Given the description of an element on the screen output the (x, y) to click on. 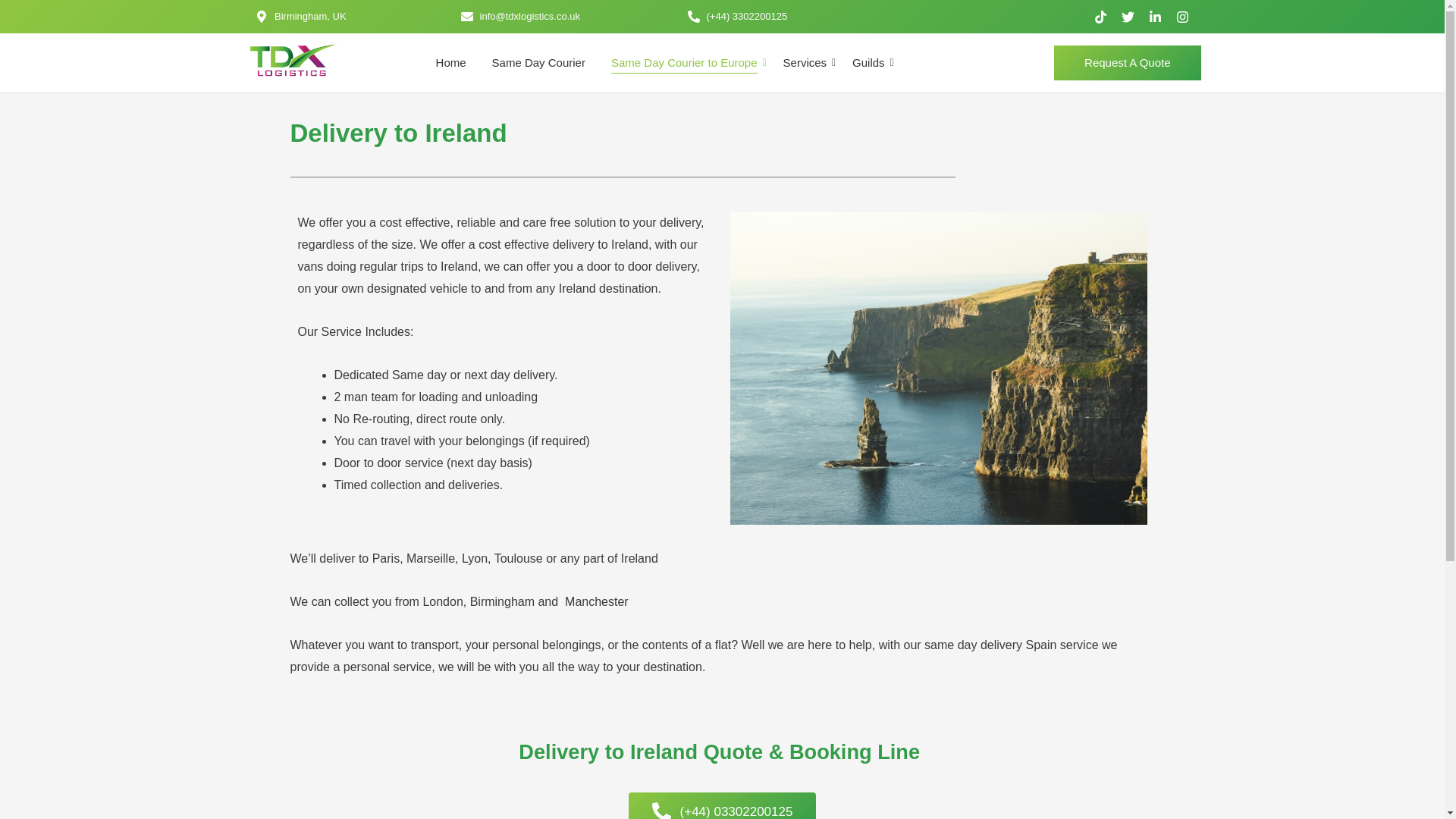
Same Day Courier to Europe (683, 63)
Home (450, 63)
Tiktok (1100, 16)
Services (804, 63)
Guilds (868, 63)
Instagram (1182, 16)
Same Day Courier (538, 63)
Linkedin-in (1154, 16)
Twitter (1127, 16)
